Given the description of an element on the screen output the (x, y) to click on. 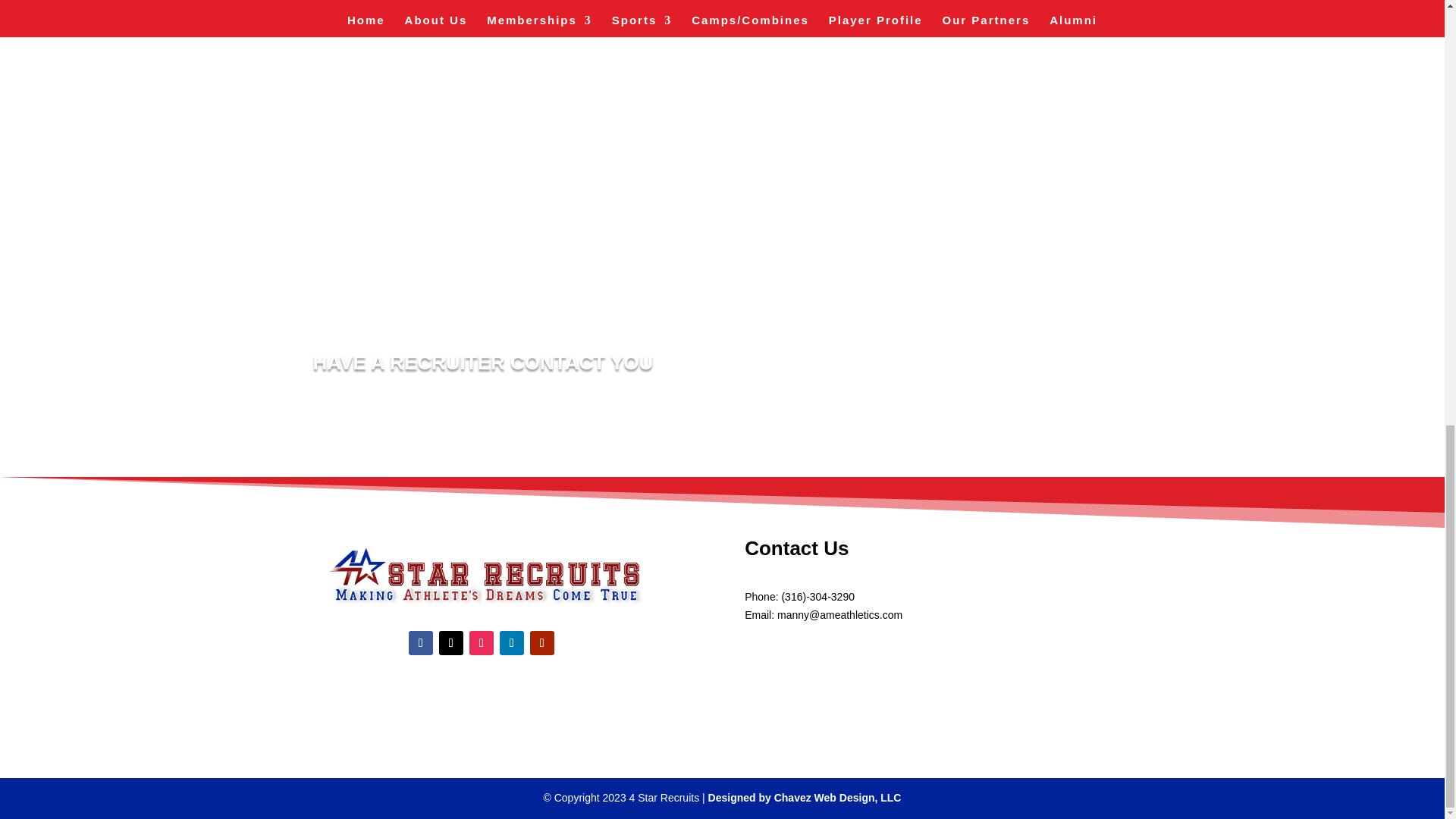
Follow on X (451, 642)
Final-Logo (481, 574)
Follow on LinkedIn (511, 642)
Follow on Instagram (480, 642)
Follow on Youtube (541, 642)
Designed by Chavez Web Design, LLC (804, 797)
Follow on Facebook (420, 642)
